Given the description of an element on the screen output the (x, y) to click on. 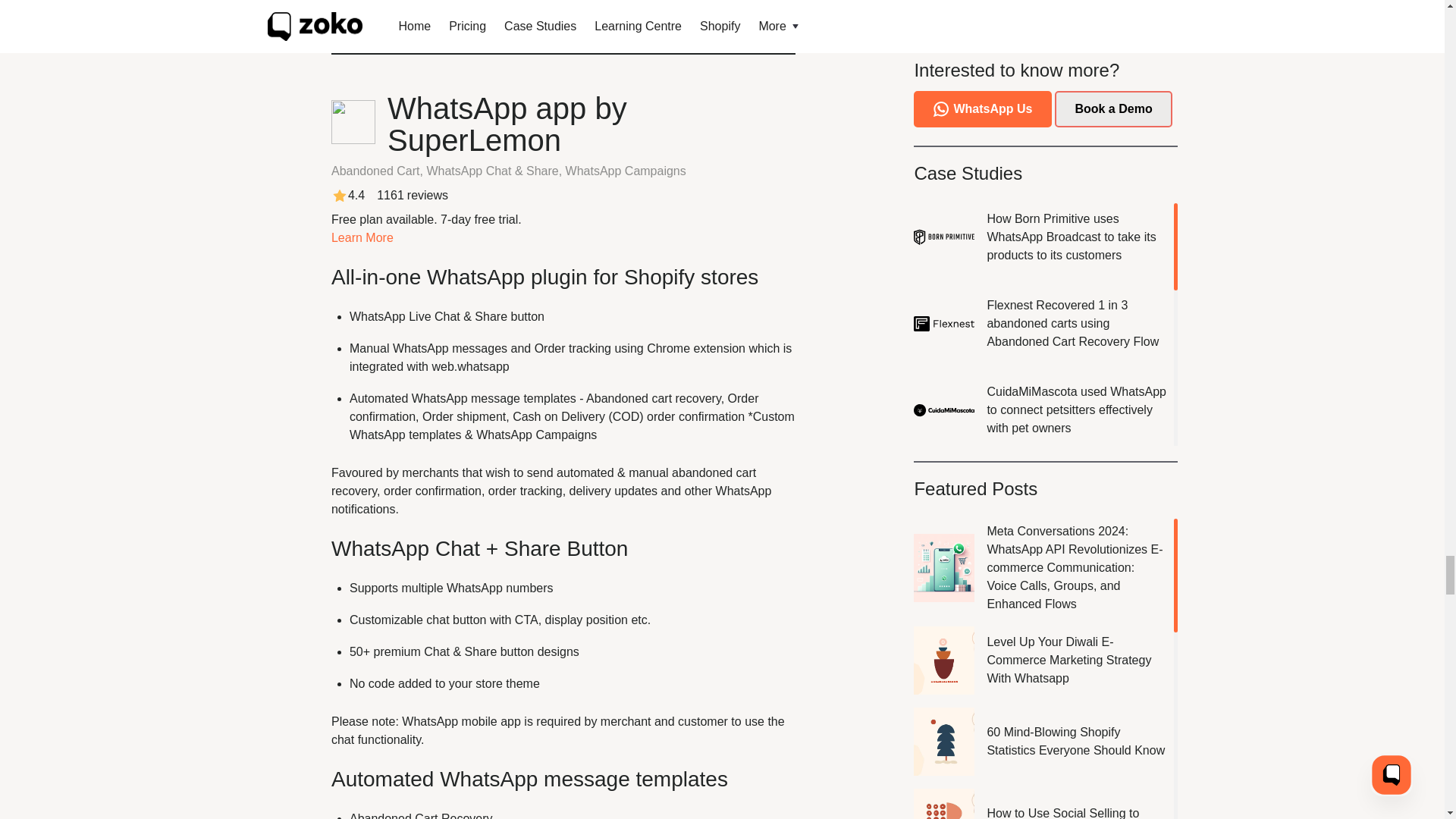
Learn More (362, 237)
